Given the description of an element on the screen output the (x, y) to click on. 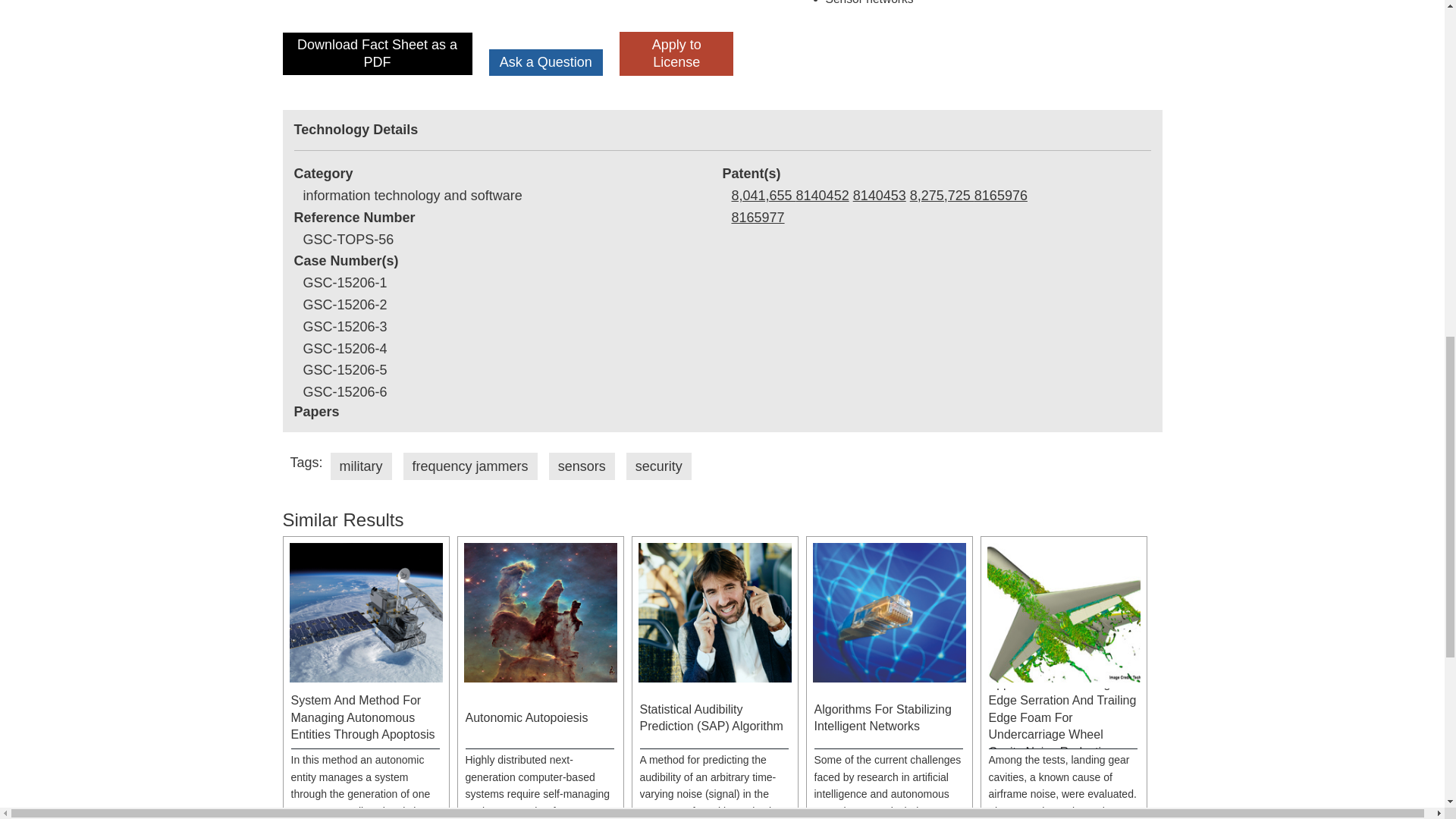
8,275,725 (942, 195)
8140453 (879, 195)
Ask a Question (545, 61)
8165976 (1000, 195)
8165977 (757, 217)
Apply to License (676, 52)
frequency jammers (470, 465)
sensors (581, 465)
Download Fact Sheet as a PDF (376, 53)
8,041,655 (762, 195)
